Given the description of an element on the screen output the (x, y) to click on. 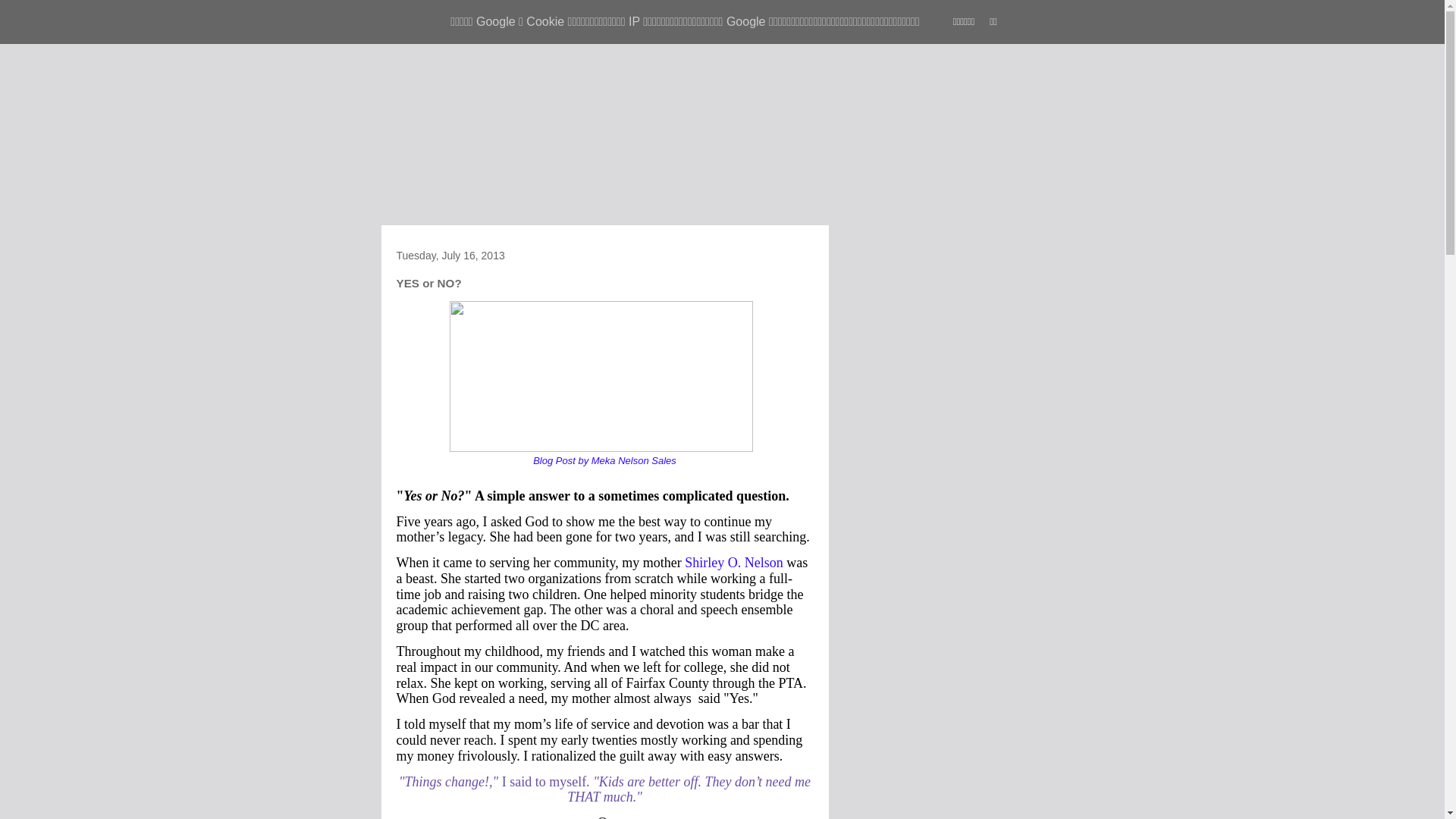
Blog Post by Meka Nelson Sales Element type: text (604, 460)
Shirley O. Nelson Element type: text (733, 562)
